Given the description of an element on the screen output the (x, y) to click on. 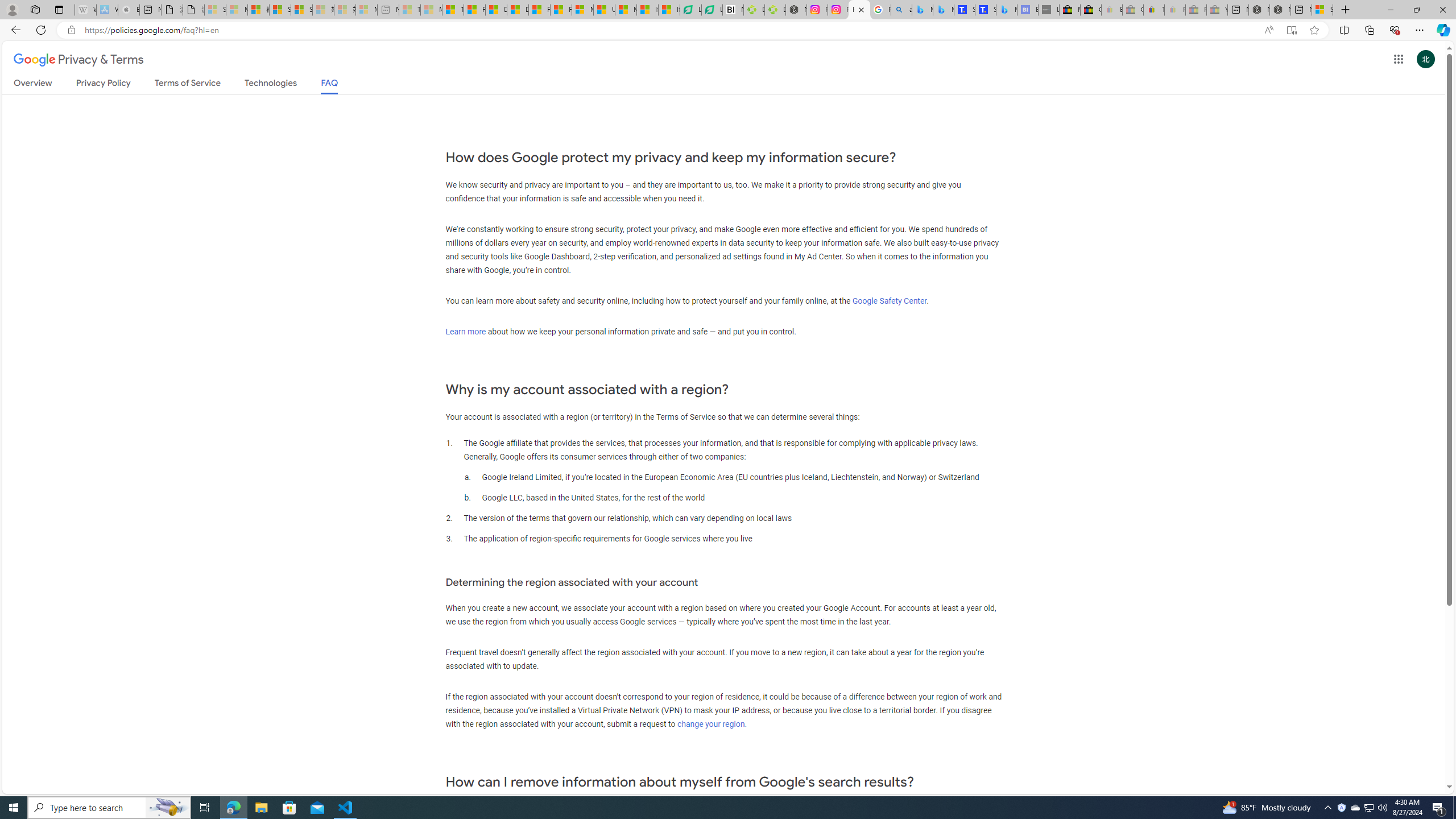
Sign in to your Microsoft account - Sleeping (215, 9)
Descarga Driver Updater (775, 9)
Shangri-La Bangkok, Hotel reviews and Room rates (985, 9)
Threats and offensive language policy | eBay (1153, 9)
